Given the description of an element on the screen output the (x, y) to click on. 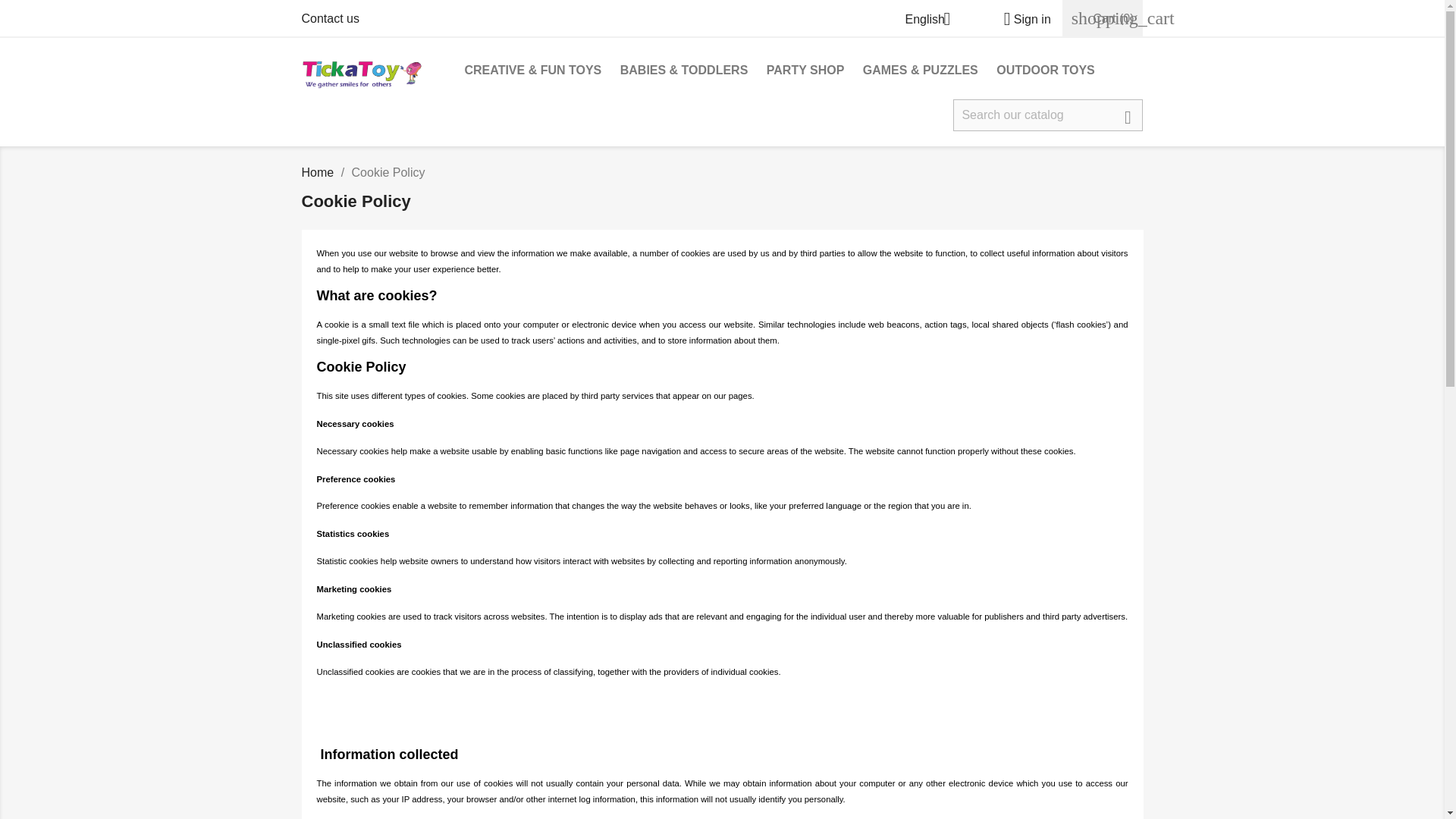
OUTDOOR TOYS (1045, 71)
Contact us (330, 18)
Home (317, 172)
PARTY SHOP (804, 71)
Log in to your customer account (1020, 19)
